Given the description of an element on the screen output the (x, y) to click on. 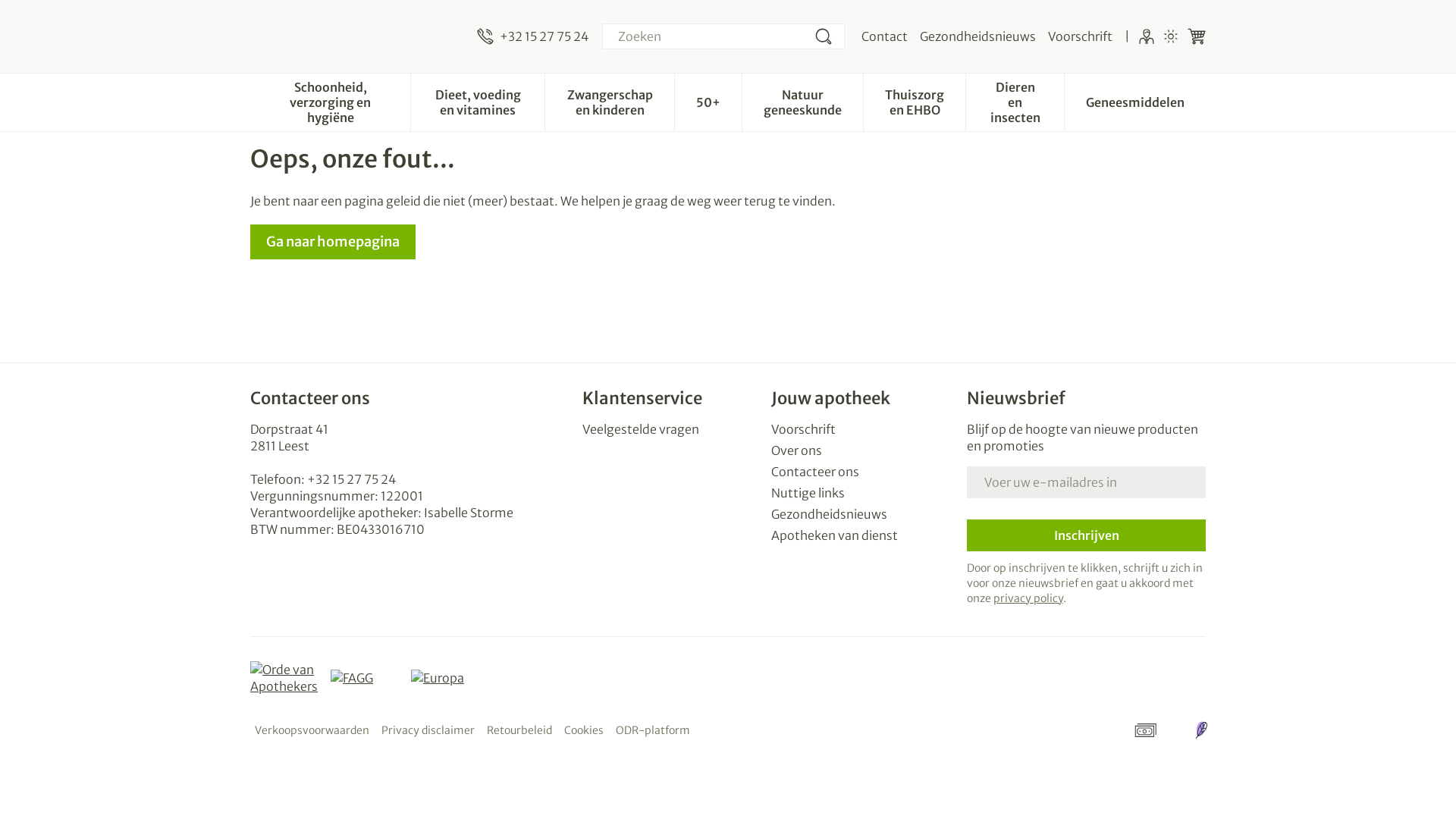
Dieet, voeding en vitamines Element type: text (477, 100)
Gezondheidsnieuws Element type: text (862, 513)
Voorschrift Element type: text (862, 428)
Natuur geneeskunde Element type: text (802, 100)
Ga naar homepagina Element type: text (332, 241)
Zoeken Element type: text (823, 36)
+32 15 27 75 24 Element type: text (532, 36)
ODR-platform Element type: text (652, 729)
Licht modus Element type: text (1170, 35)
Winkelwagen Element type: text (1196, 36)
50+ Element type: text (707, 100)
Gezondheidsnieuws Element type: text (977, 35)
Contacteer ons Element type: text (862, 471)
Privacy disclaimer Element type: text (427, 729)
Cookies Element type: text (583, 729)
Nuttige links Element type: text (862, 492)
Apotheken van dienst Element type: text (862, 535)
Verkoopsvoorwaarden Element type: text (311, 729)
Klant menu Element type: text (1146, 35)
Contact Element type: text (884, 35)
Retourbeleid Element type: text (519, 729)
Geneesmiddelen Element type: text (1134, 100)
Apotheek Annaert - Storme Element type: hover (357, 36)
privacy policy Element type: text (1028, 598)
+32 15 27 75 24 Element type: text (351, 478)
Over ons Element type: text (862, 450)
Veelgestelde vragen Element type: text (670, 428)
Inschrijven Element type: text (1085, 535)
Zwangerschap en kinderen Element type: text (609, 100)
Thuiszorg en EHBO Element type: text (914, 100)
Voorschrift Element type: text (1080, 35)
Dieren en insecten Element type: text (1014, 100)
